Given the description of an element on the screen output the (x, y) to click on. 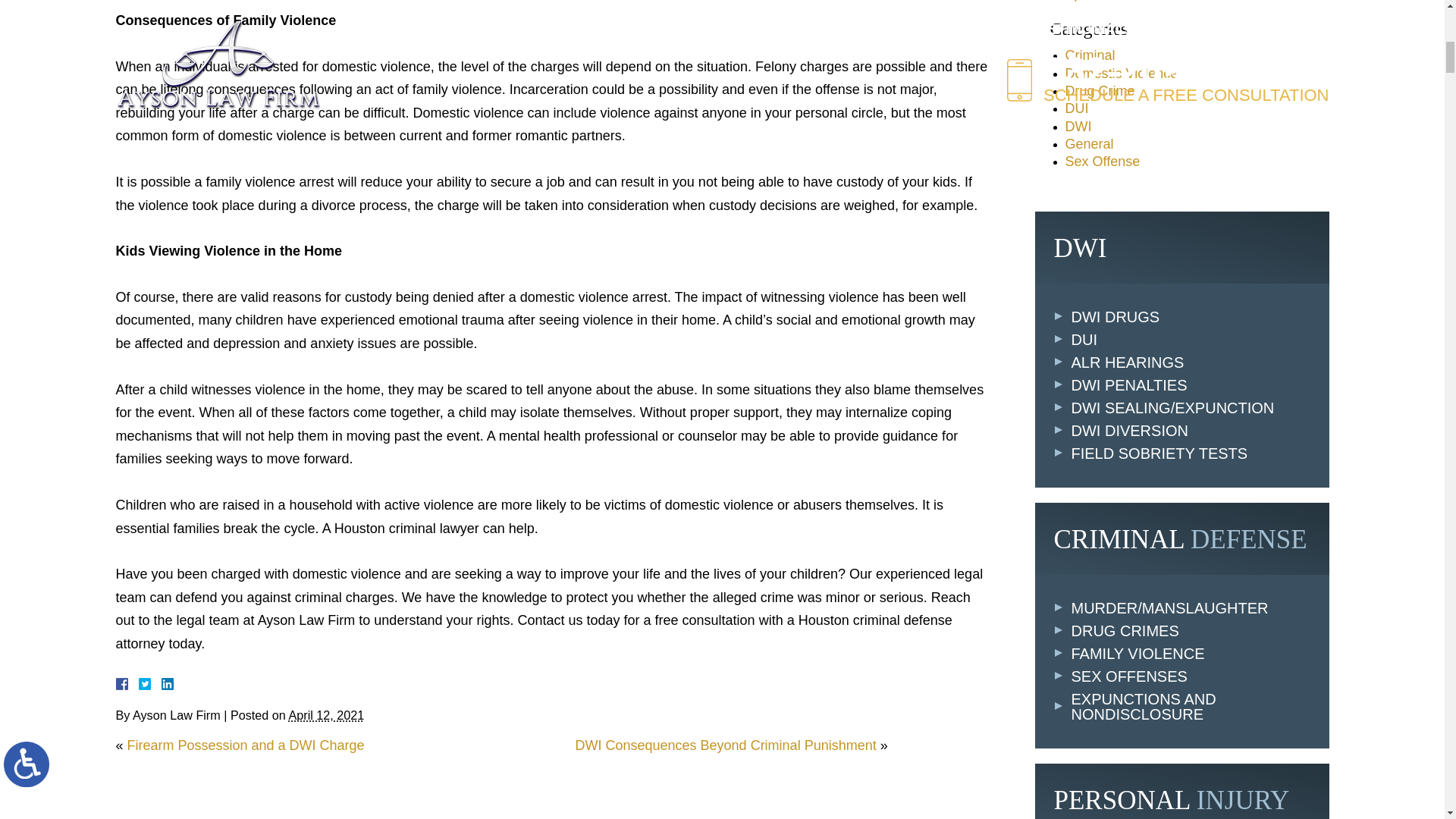
Facebook (139, 684)
2021-04-12T03:00:30-0700 (326, 714)
Twitter (149, 684)
LinkedIn (160, 684)
